Given the description of an element on the screen output the (x, y) to click on. 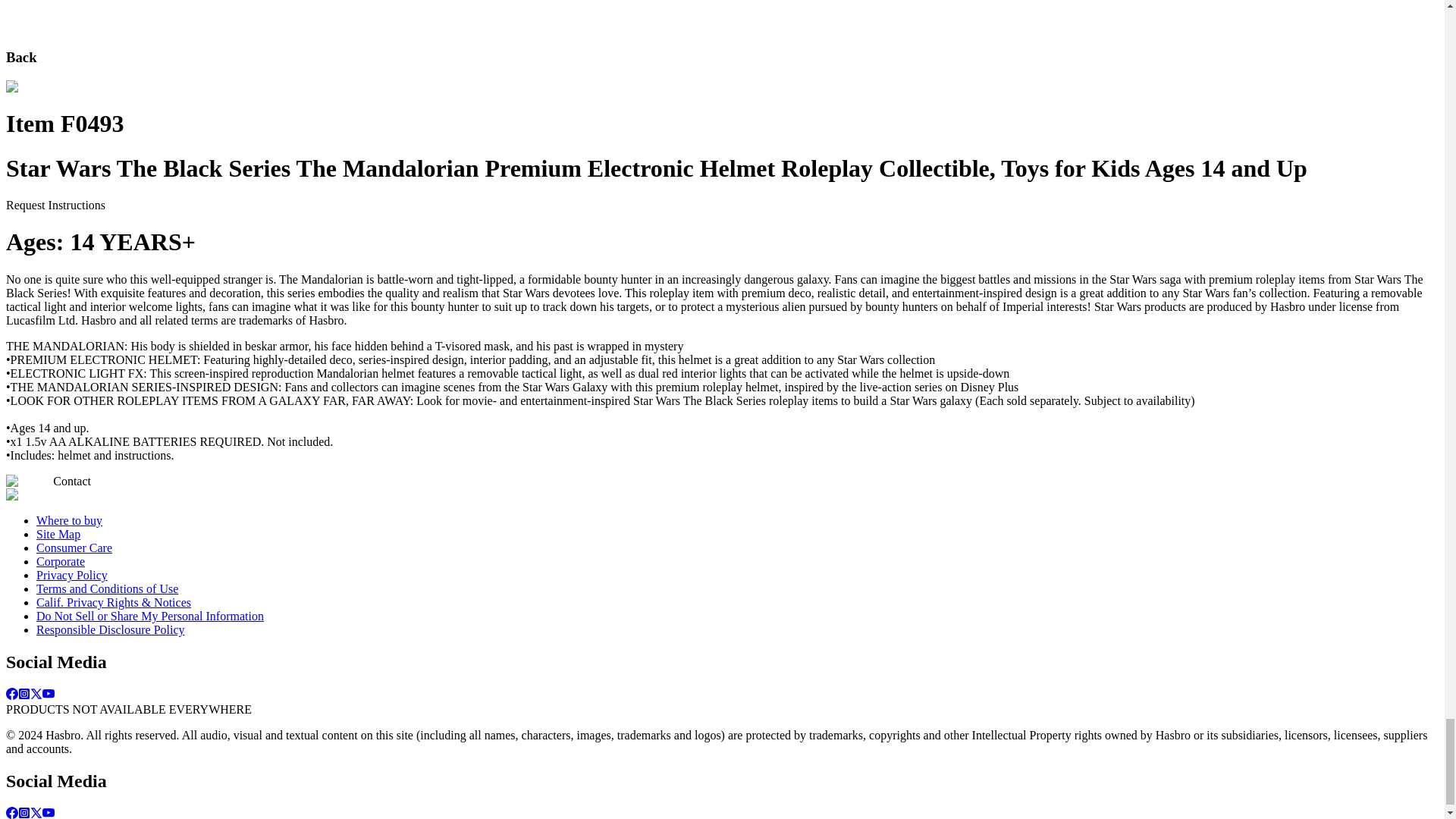
Corporate (60, 561)
Responsible Disclosure Policy (110, 629)
Privacy Policy (71, 574)
Consumer Care (74, 547)
Terms and Conditions of Use (106, 588)
Where to buy (68, 520)
Request Instructions (54, 205)
Site Map (58, 533)
Do Not Sell or Share My Personal Information (149, 615)
